Given the description of an element on the screen output the (x, y) to click on. 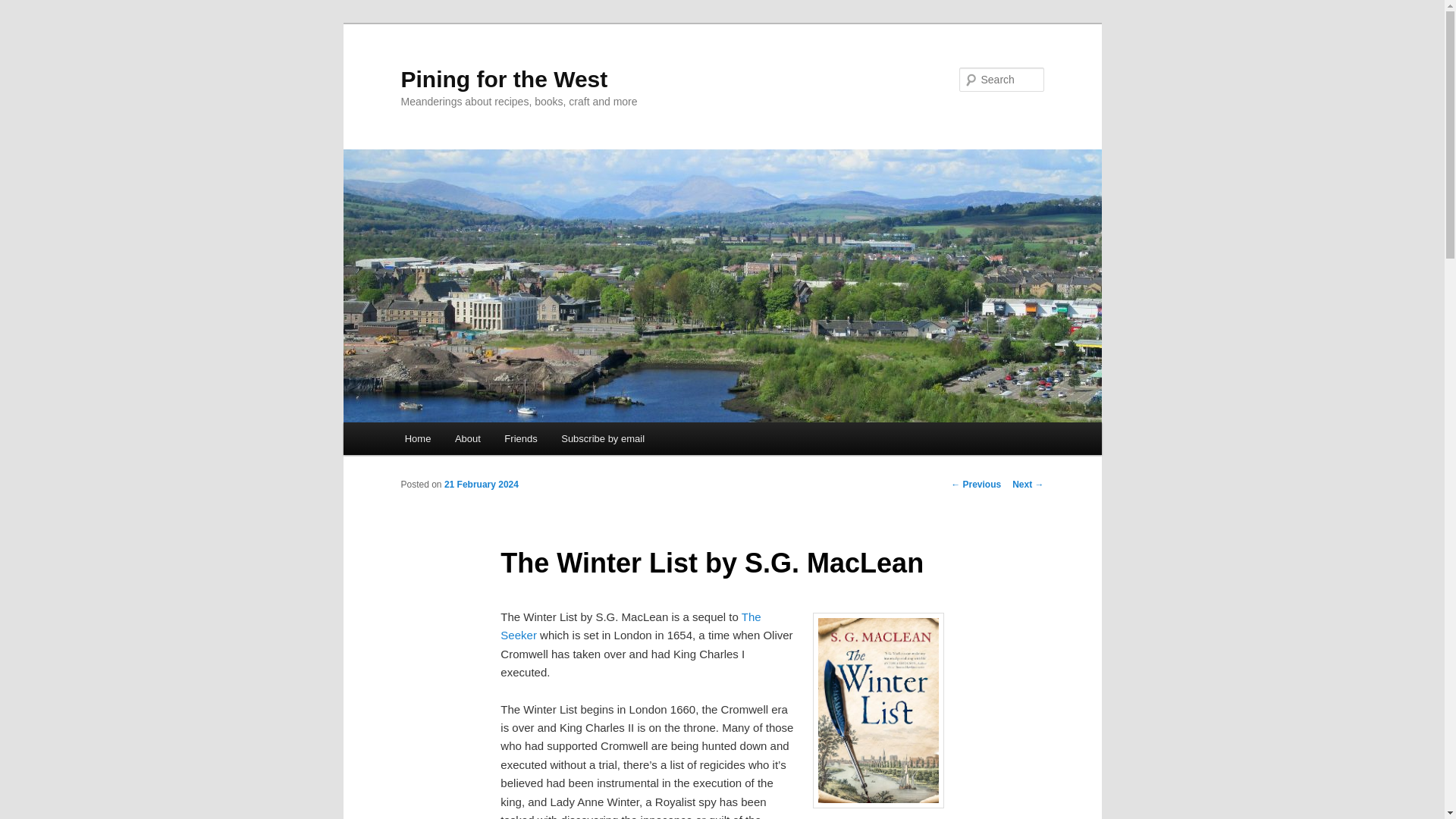
Subscribe by email (602, 438)
21 February 2024 (481, 484)
About (467, 438)
Home (417, 438)
Friends (521, 438)
The Seeker (630, 625)
Search (24, 8)
Pining for the West (503, 78)
